Given the description of an element on the screen output the (x, y) to click on. 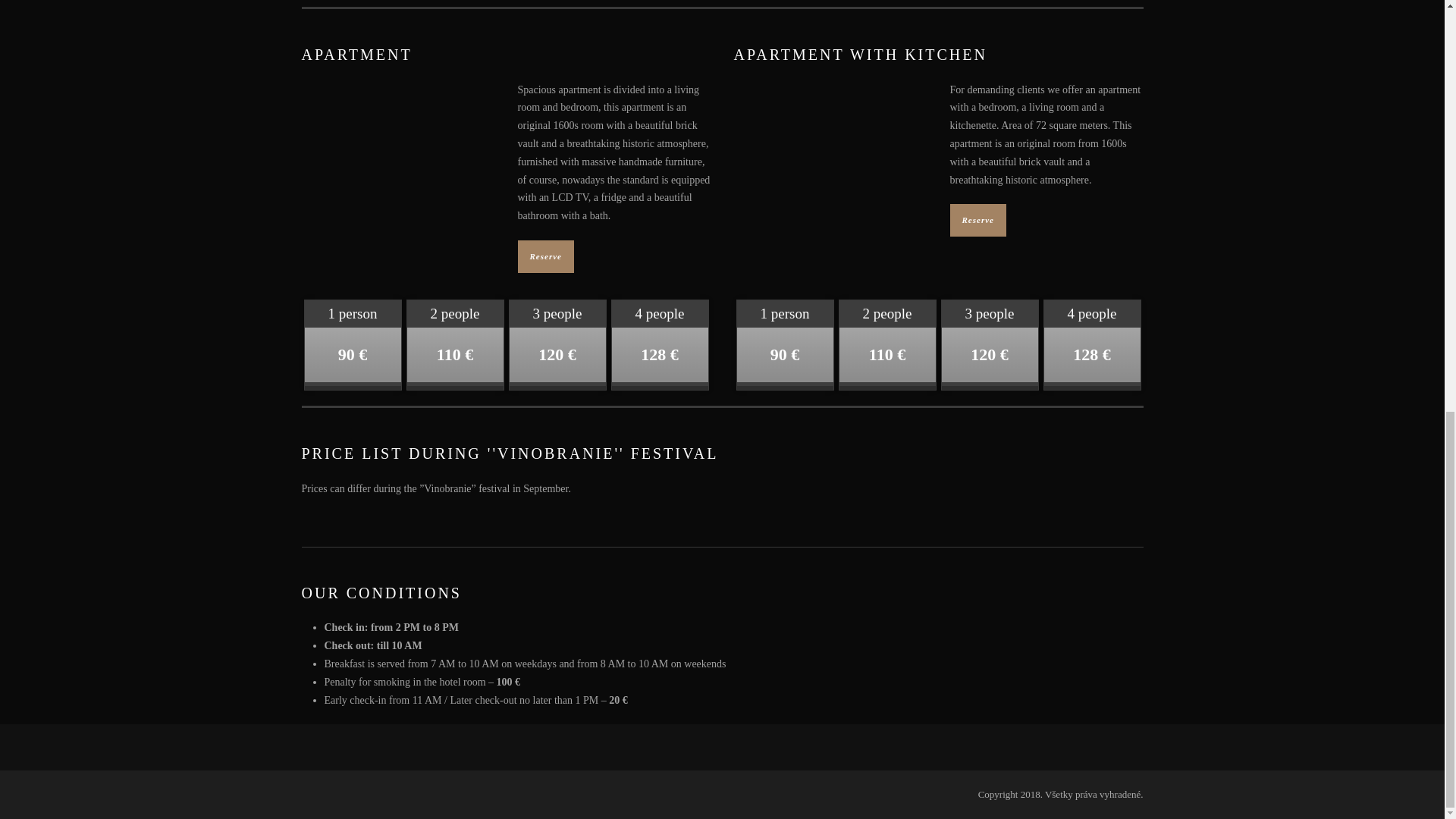
Reserve (977, 219)
Reserve (544, 256)
